Given the description of an element on the screen output the (x, y) to click on. 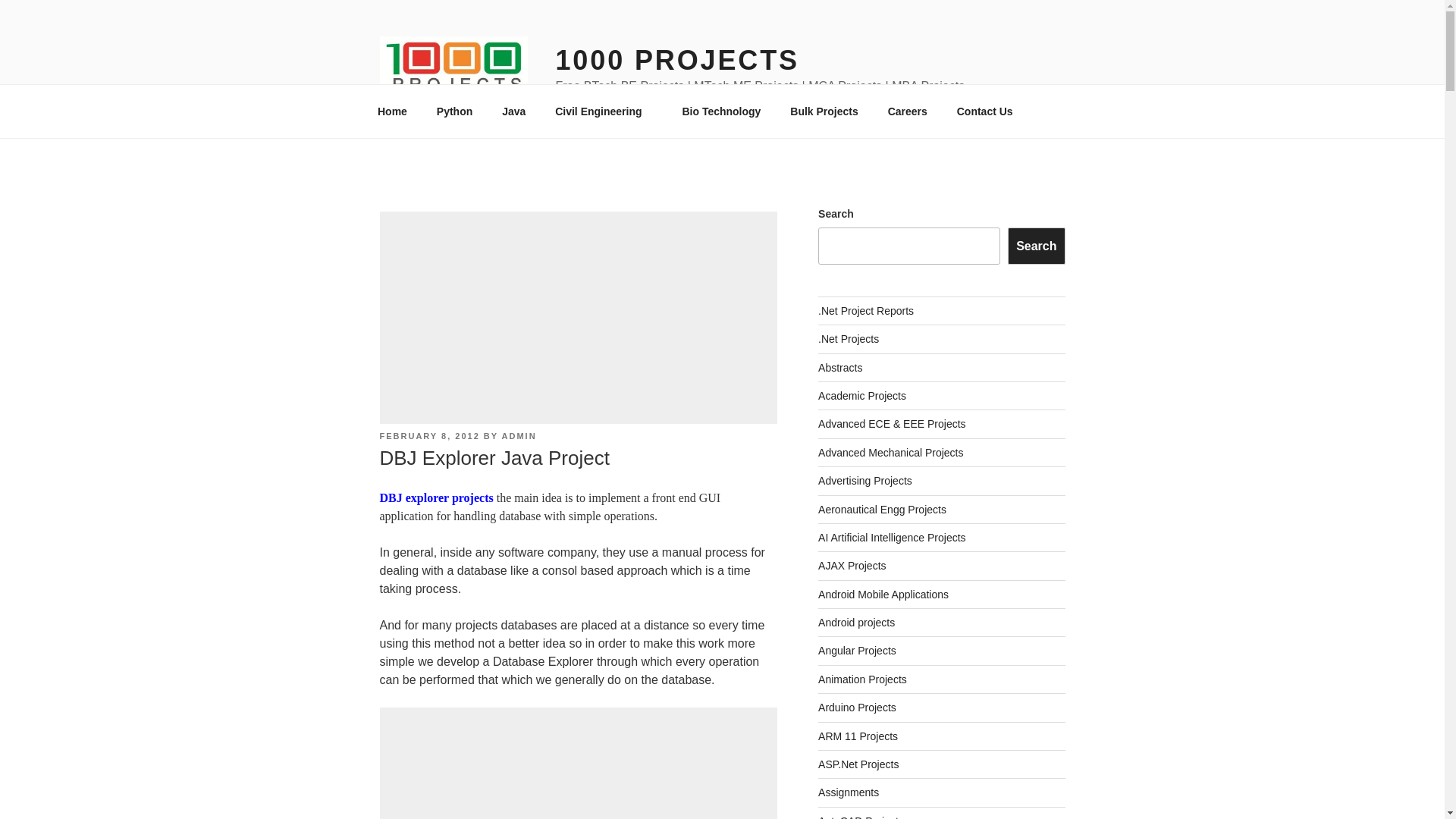
Search (1035, 245)
Bulk Projects (823, 110)
FEBRUARY 8, 2012 (428, 435)
Civil Engineering (603, 110)
Careers (907, 110)
Bio Technology (721, 110)
Advertisement (663, 317)
Java (513, 110)
Contact Us (984, 110)
Home (392, 110)
